Given the description of an element on the screen output the (x, y) to click on. 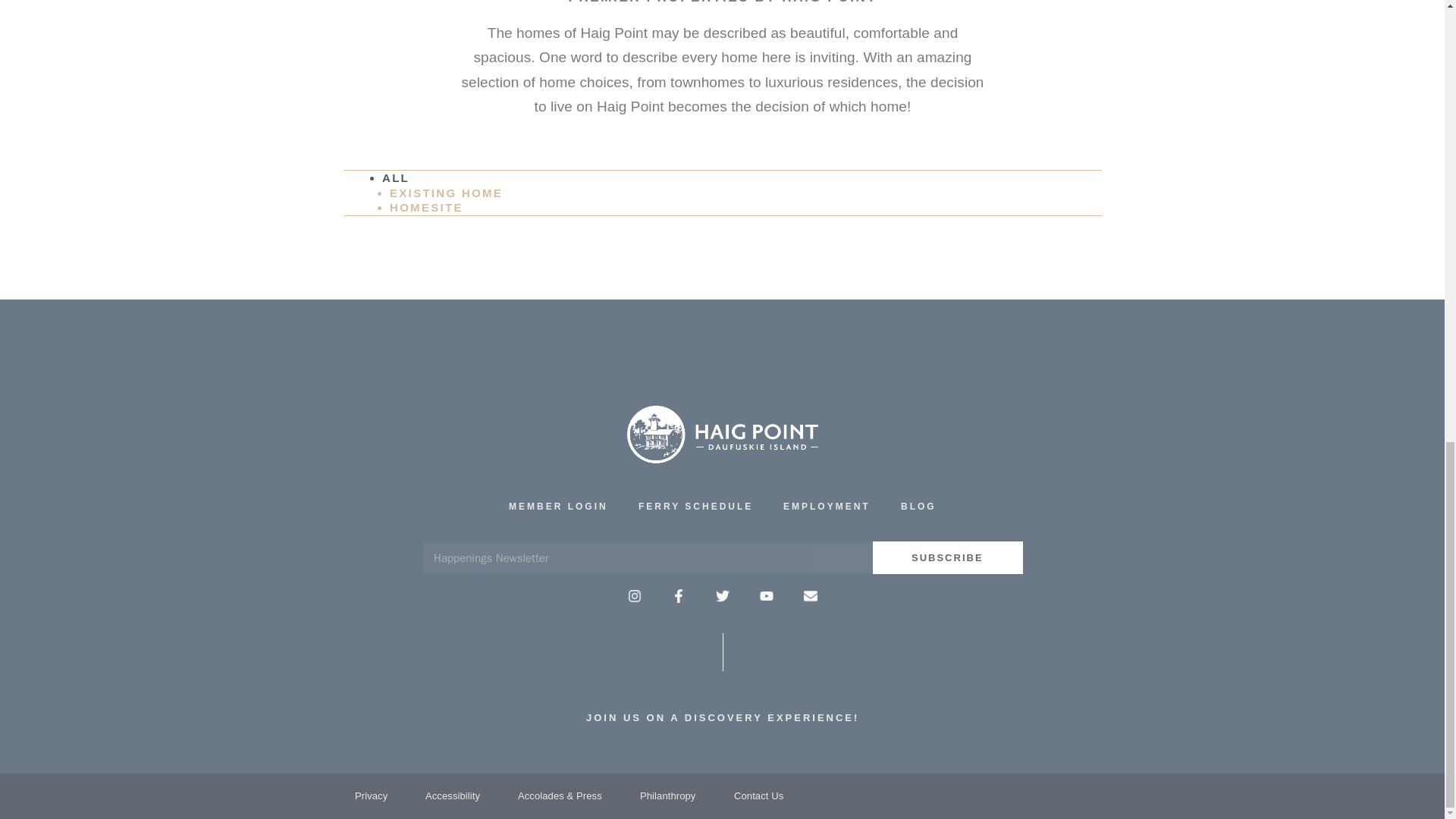
Scroll back to top (1406, 575)
